Given the description of an element on the screen output the (x, y) to click on. 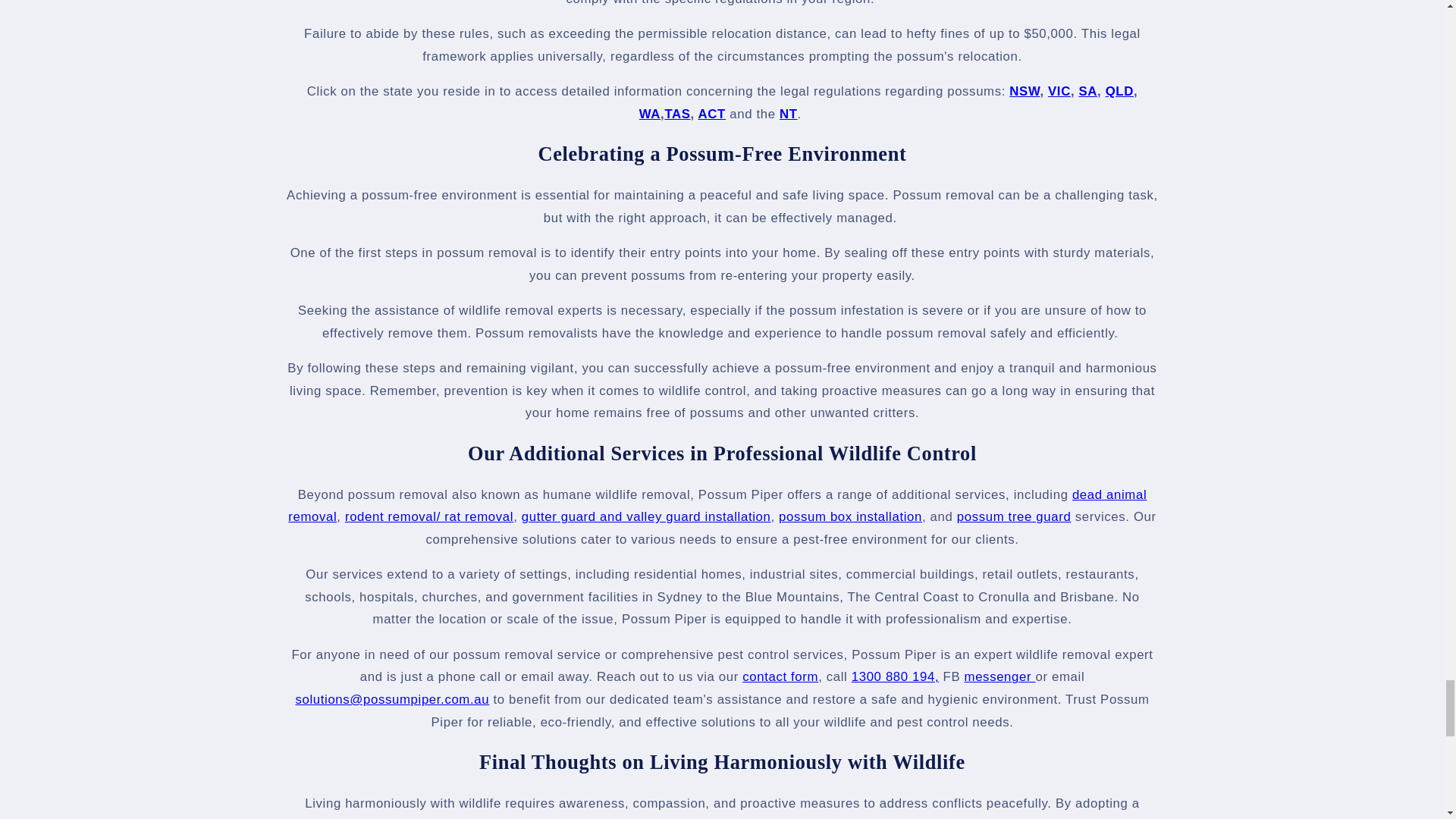
Dead Animal Removal (717, 505)
Possum Box Installation (849, 516)
Possum Tree Guard (1013, 516)
Rodent Control (429, 516)
